Given the description of an element on the screen output the (x, y) to click on. 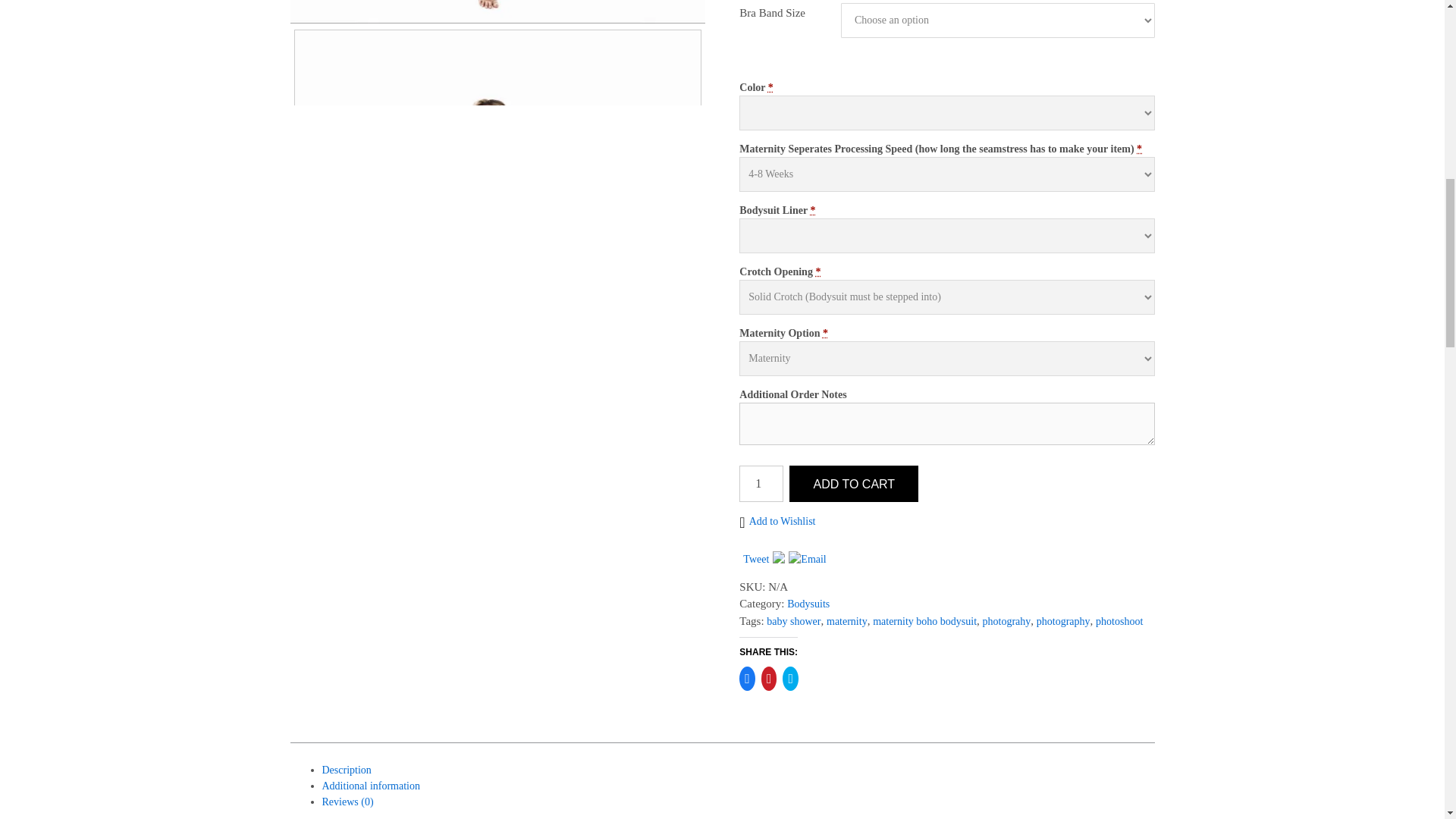
1 (761, 484)
Photogrpahy by Kayleigh Ashworth Photography (496, 11)
